Given the description of an element on the screen output the (x, y) to click on. 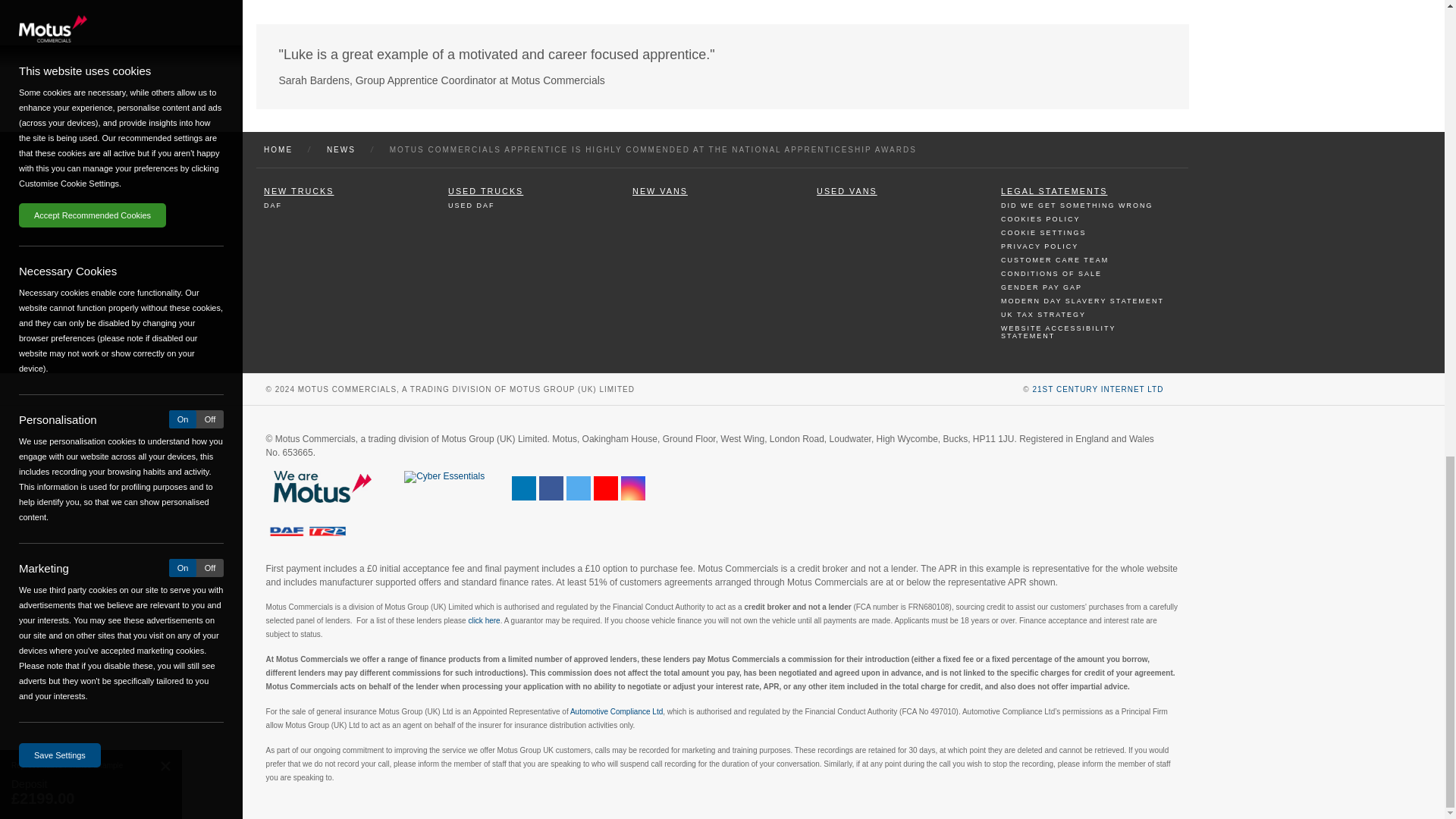
Motus Commercials on YouTube (605, 487)
Motus Commercials on Instagram (633, 487)
HOME (277, 149)
Motus Commercials on Twitter (578, 487)
NEWS (340, 149)
Motus Commercials on LinkedIn (523, 487)
Motus Commercials on Facebook (550, 487)
